Given the description of an element on the screen output the (x, y) to click on. 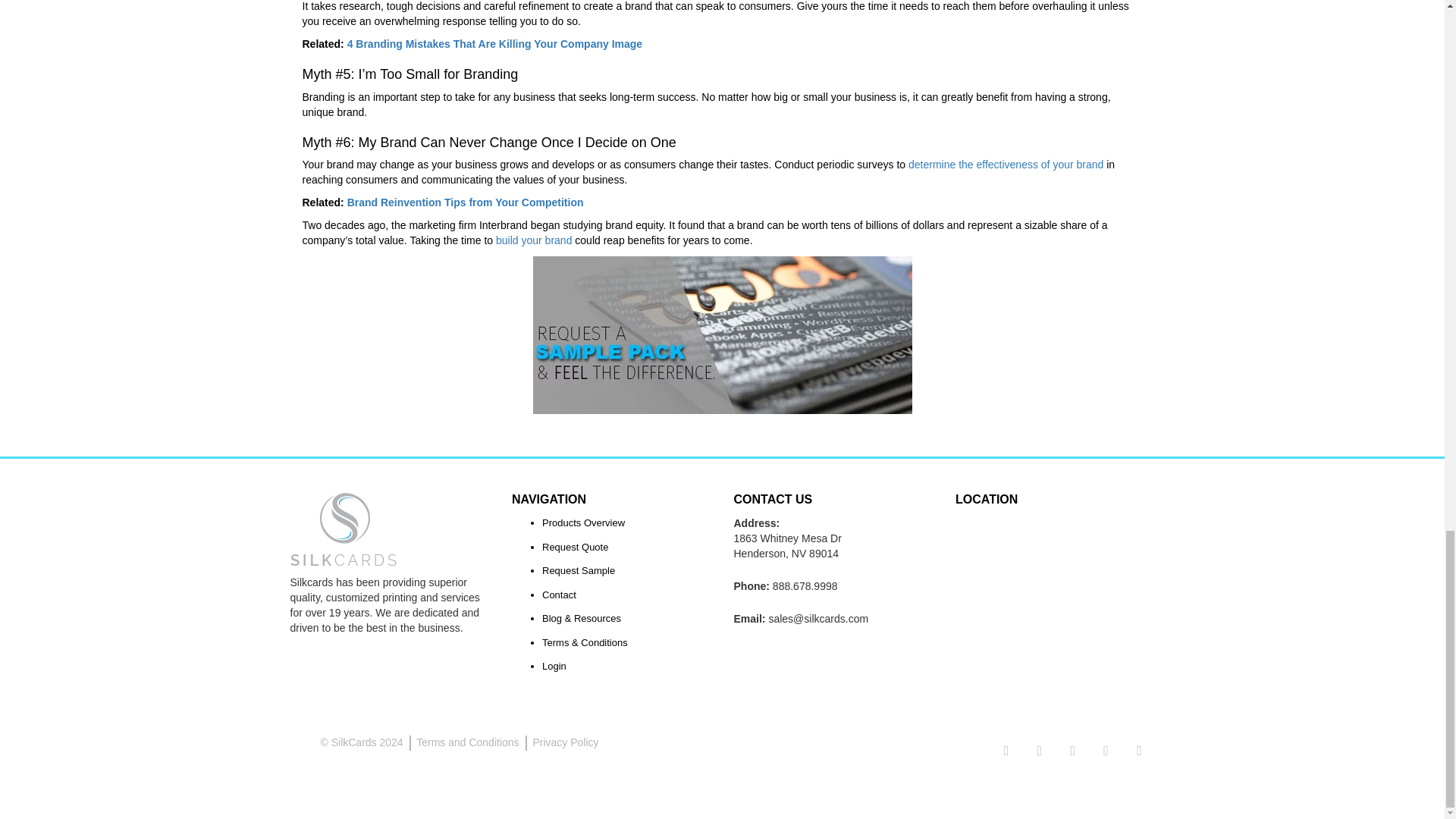
Silkcards on Twitter (1005, 750)
Call us (805, 585)
Silkcards on Instagram (1072, 750)
Silkcards on Telegram (1106, 750)
Email us (817, 618)
Silkcards on Facebook (1039, 750)
Silkcards on YouTube (1139, 750)
